Given the description of an element on the screen output the (x, y) to click on. 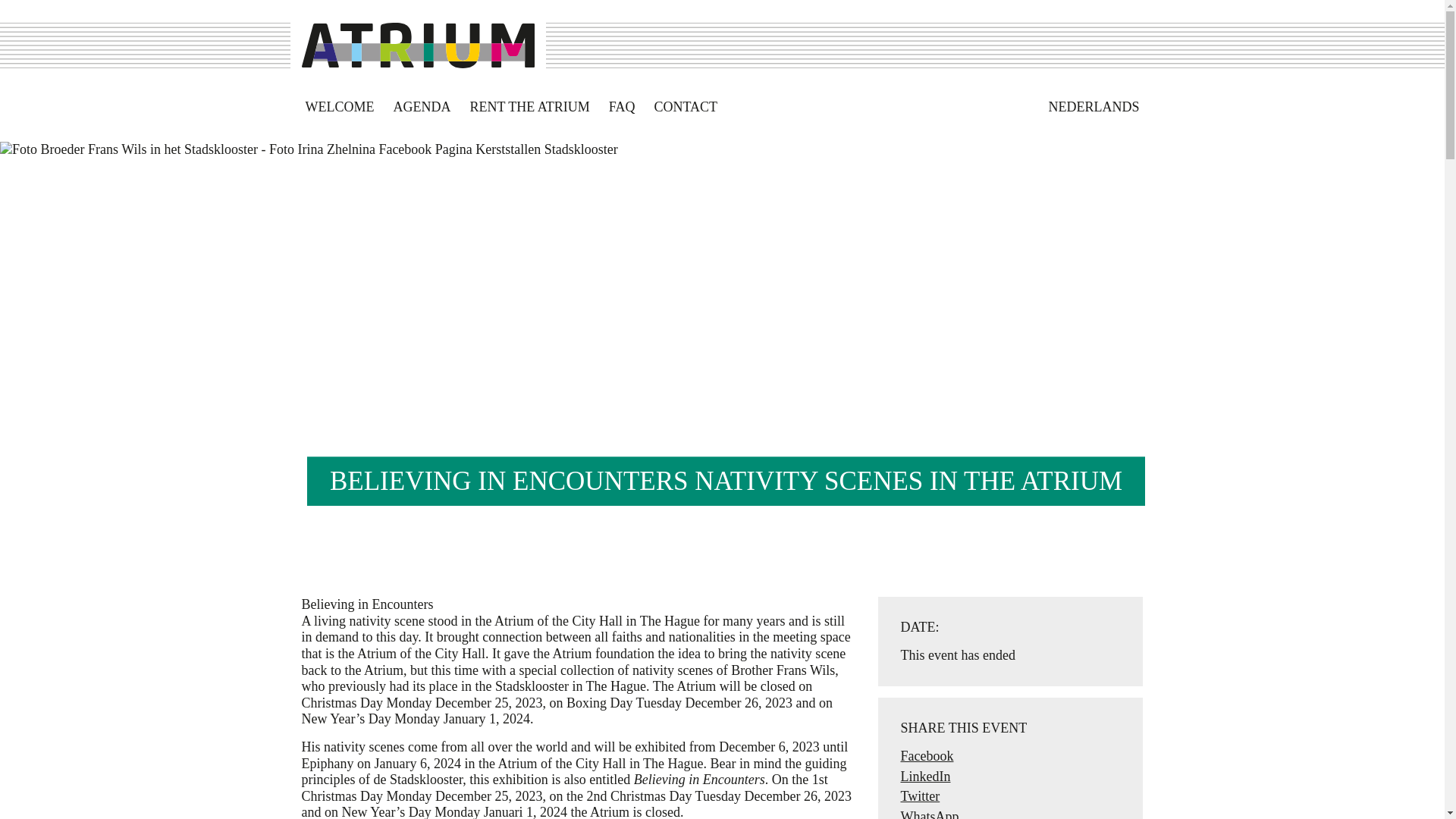
WhatsApp (930, 814)
AGENDA (421, 107)
NEDERLANDS (1093, 107)
Twitter (920, 795)
LinkedIn (925, 776)
WELCOME (339, 107)
Nederlands (1093, 107)
CONTACT (686, 107)
RENT THE ATRIUM (528, 107)
FAQ (622, 107)
Facebook (927, 755)
